Given the description of an element on the screen output the (x, y) to click on. 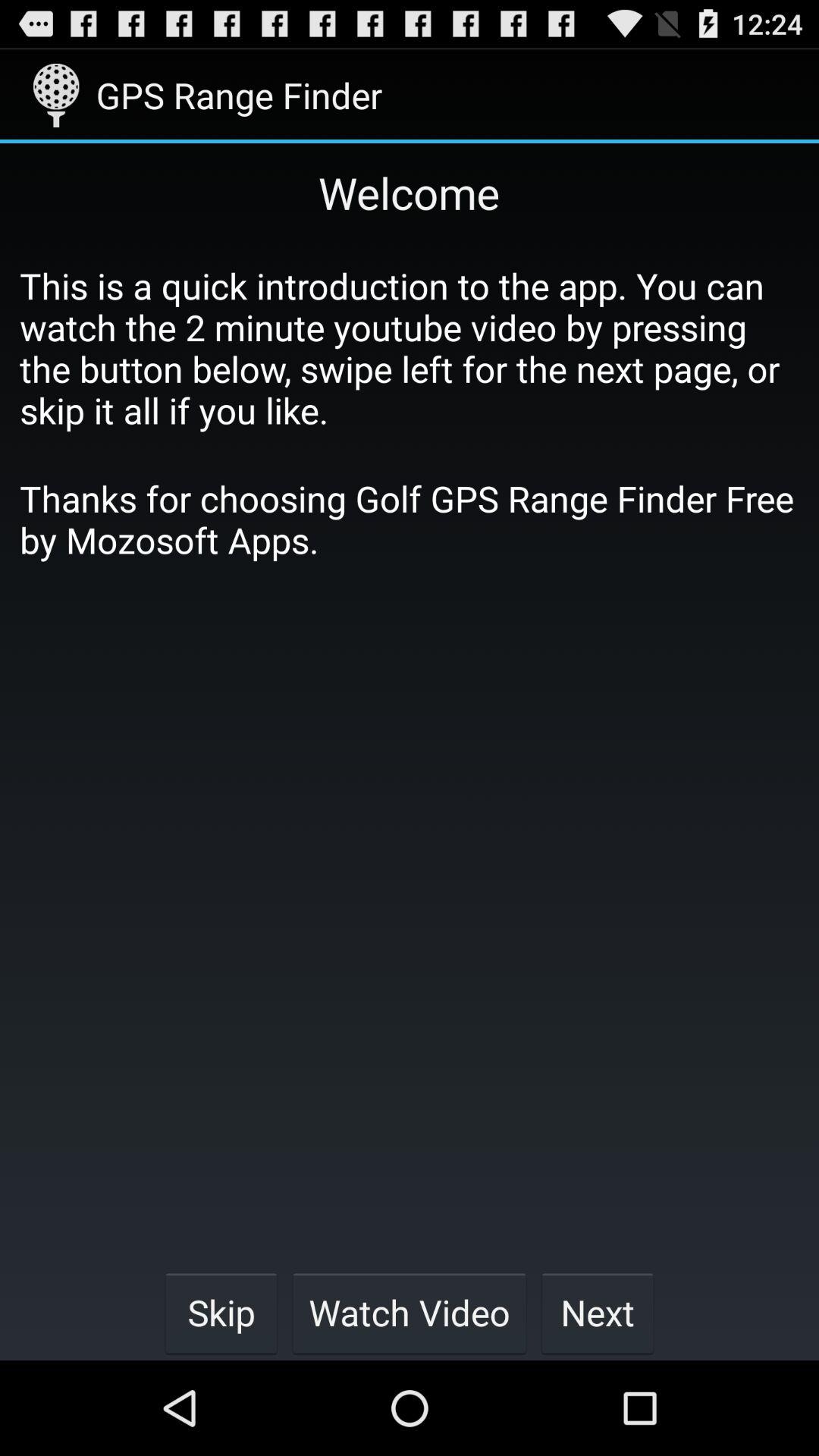
tap the item to the left of watch video button (220, 1312)
